Given the description of an element on the screen output the (x, y) to click on. 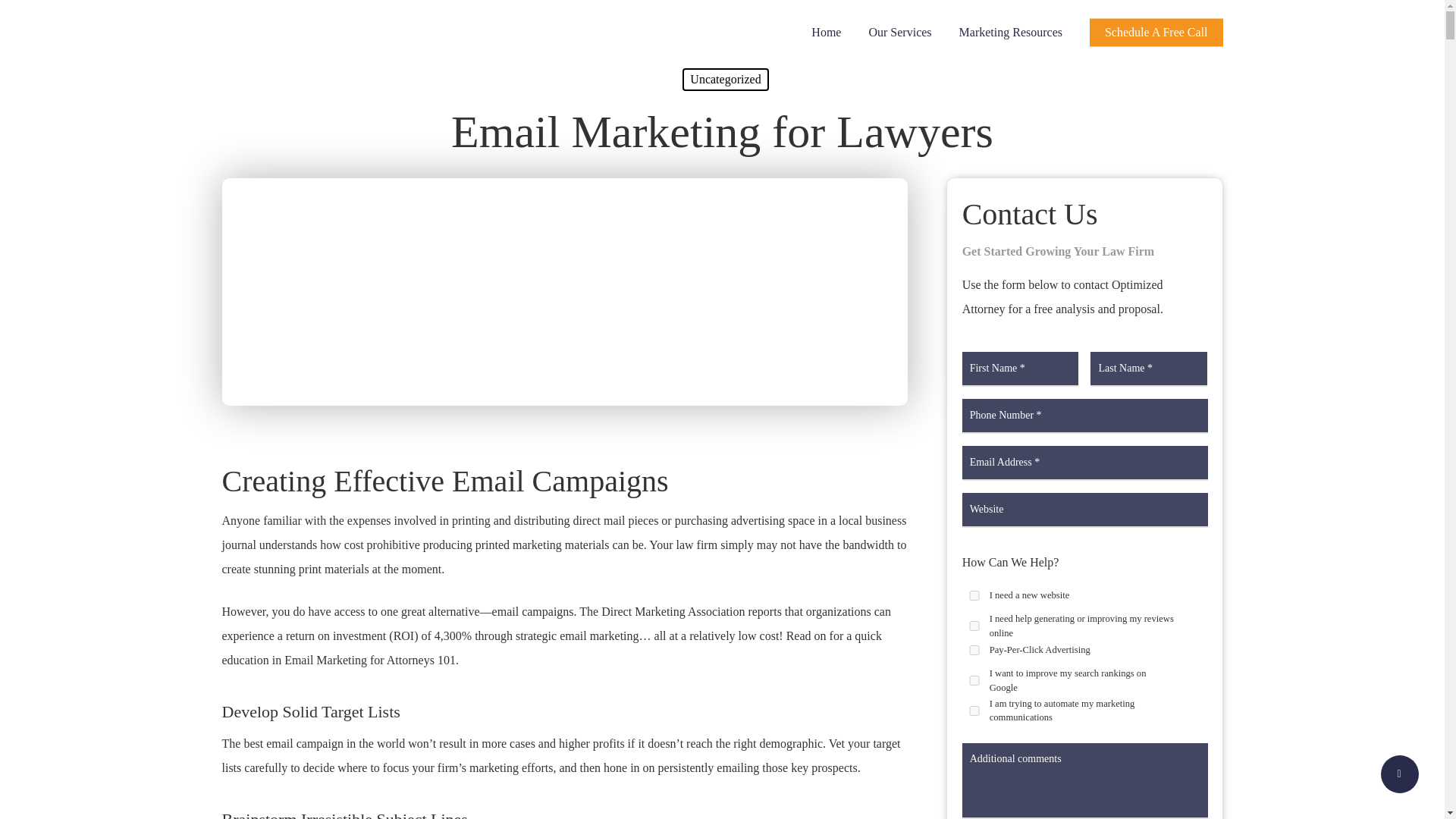
Home (825, 32)
Schedule A Free Call (1156, 32)
Pay-Per-Click Advertising (974, 650)
I need help generating or improving my reviews online (974, 625)
Uncategorized (725, 78)
I want to improve my search rankings on Google (974, 680)
Marketing Resources (1009, 32)
I am trying to automate my marketing communications (974, 710)
I need a new website (974, 595)
Our Services (899, 32)
